Given the description of an element on the screen output the (x, y) to click on. 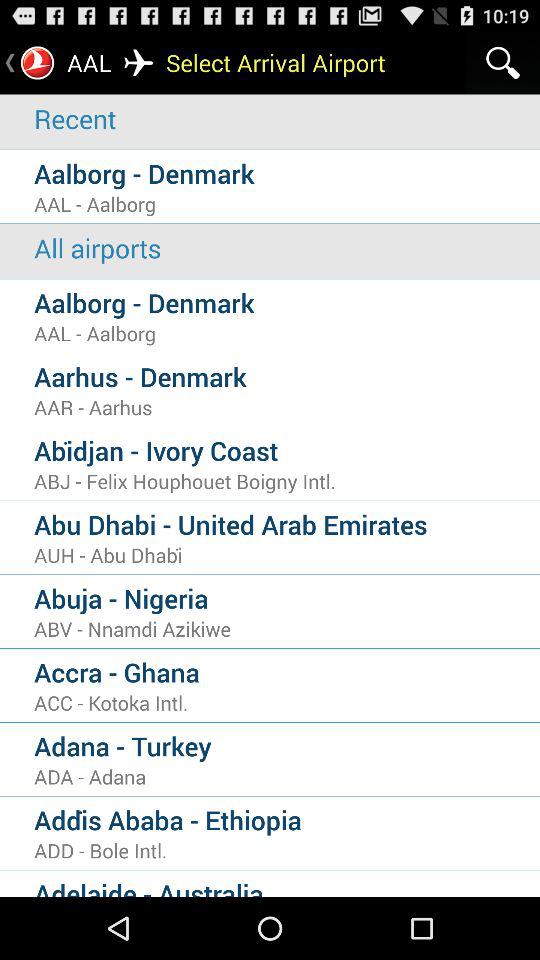
jump until the abuja - nigeria item (287, 597)
